Given the description of an element on the screen output the (x, y) to click on. 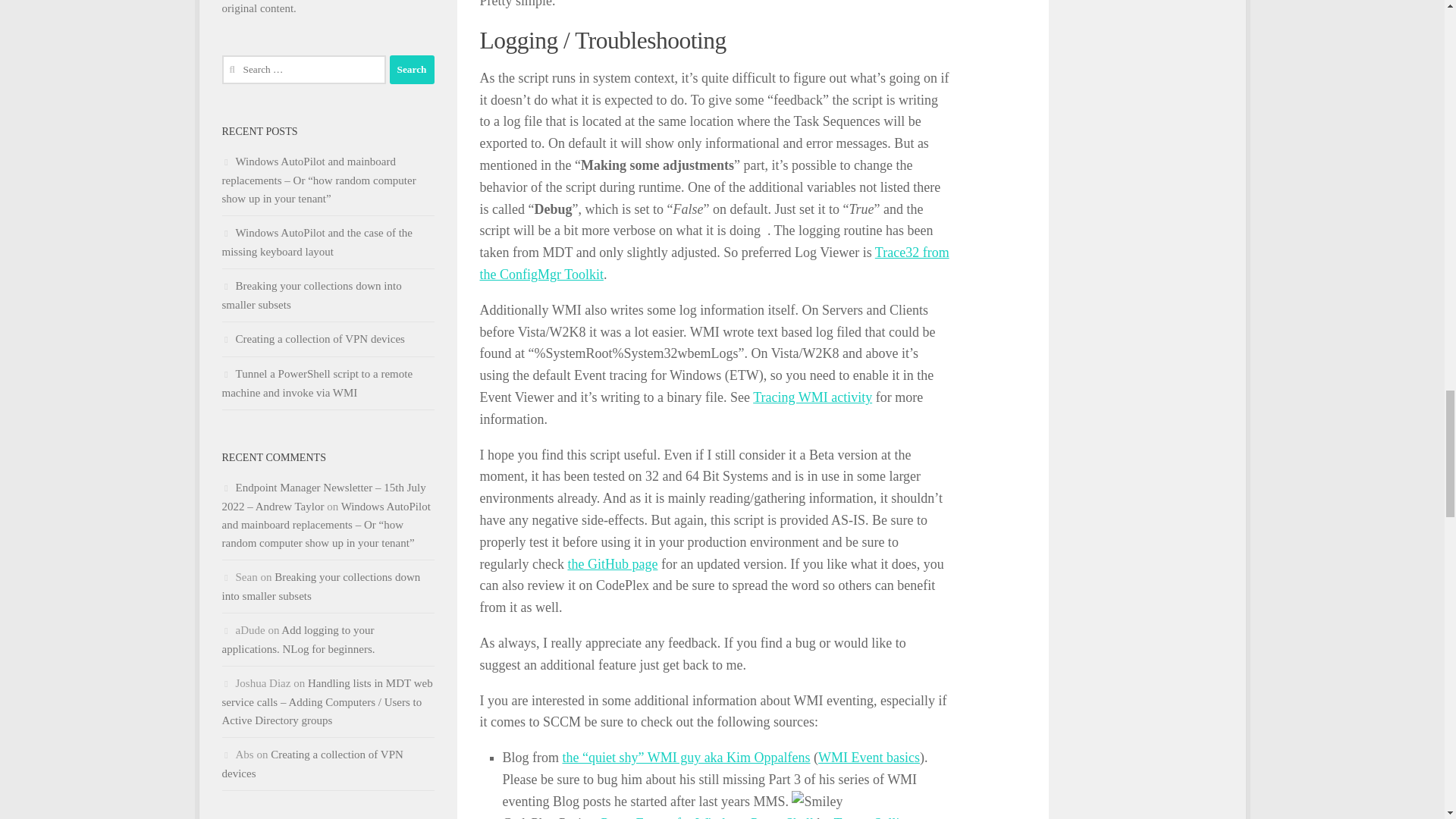
Tracing WMI activity (812, 396)
Search (411, 69)
Trace32 from the ConfigMgr Toolkit (714, 262)
WMI Event basics (869, 757)
PowerEvents for Windows PowerShell (705, 817)
the GitHub page (612, 563)
Trevor Sullivan (877, 817)
Search (411, 69)
